Given the description of an element on the screen output the (x, y) to click on. 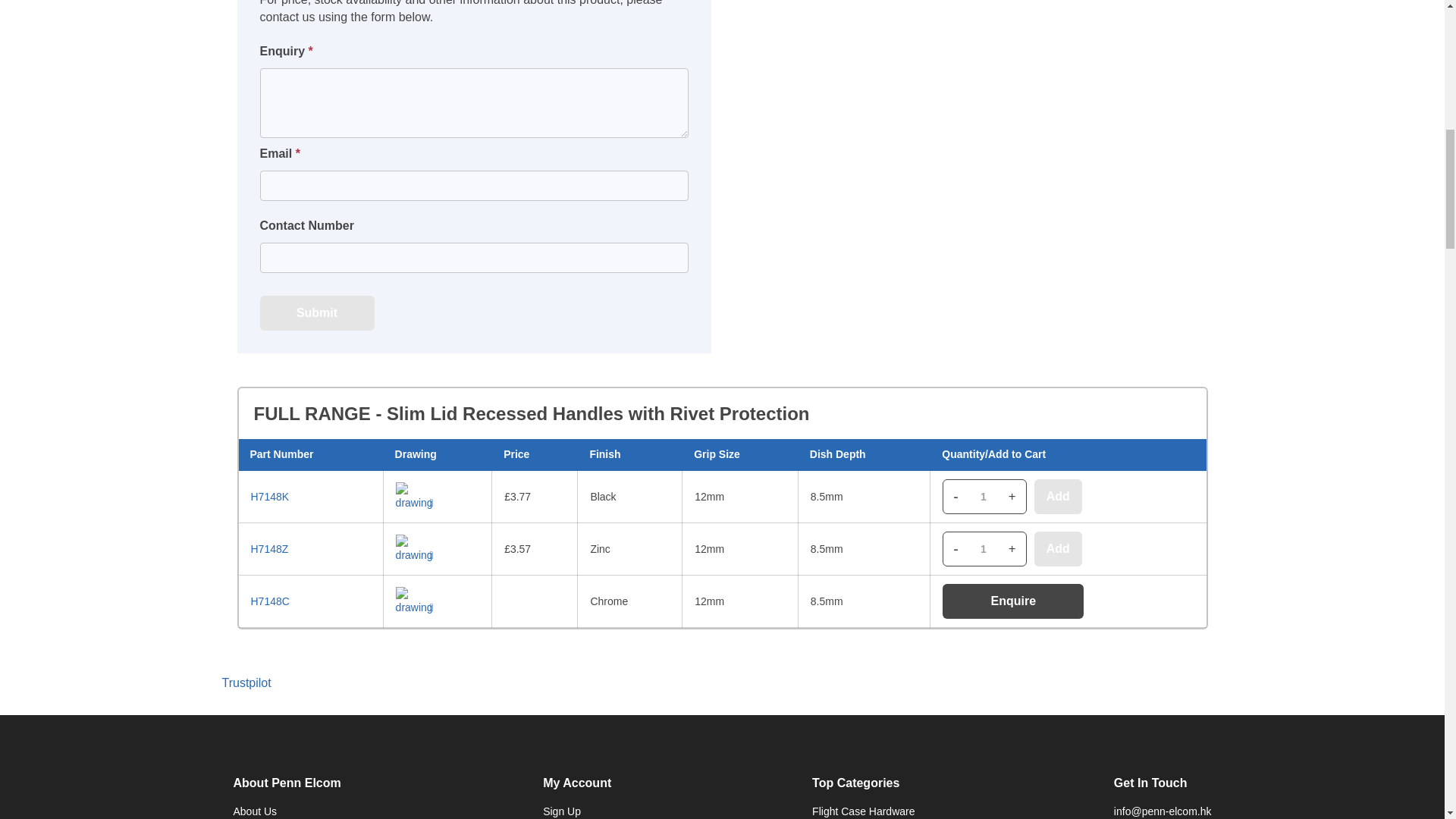
Email (473, 185)
Stock request (473, 102)
1 (983, 496)
Submit (316, 312)
1 (983, 548)
Contact Number (473, 257)
